Given the description of an element on the screen output the (x, y) to click on. 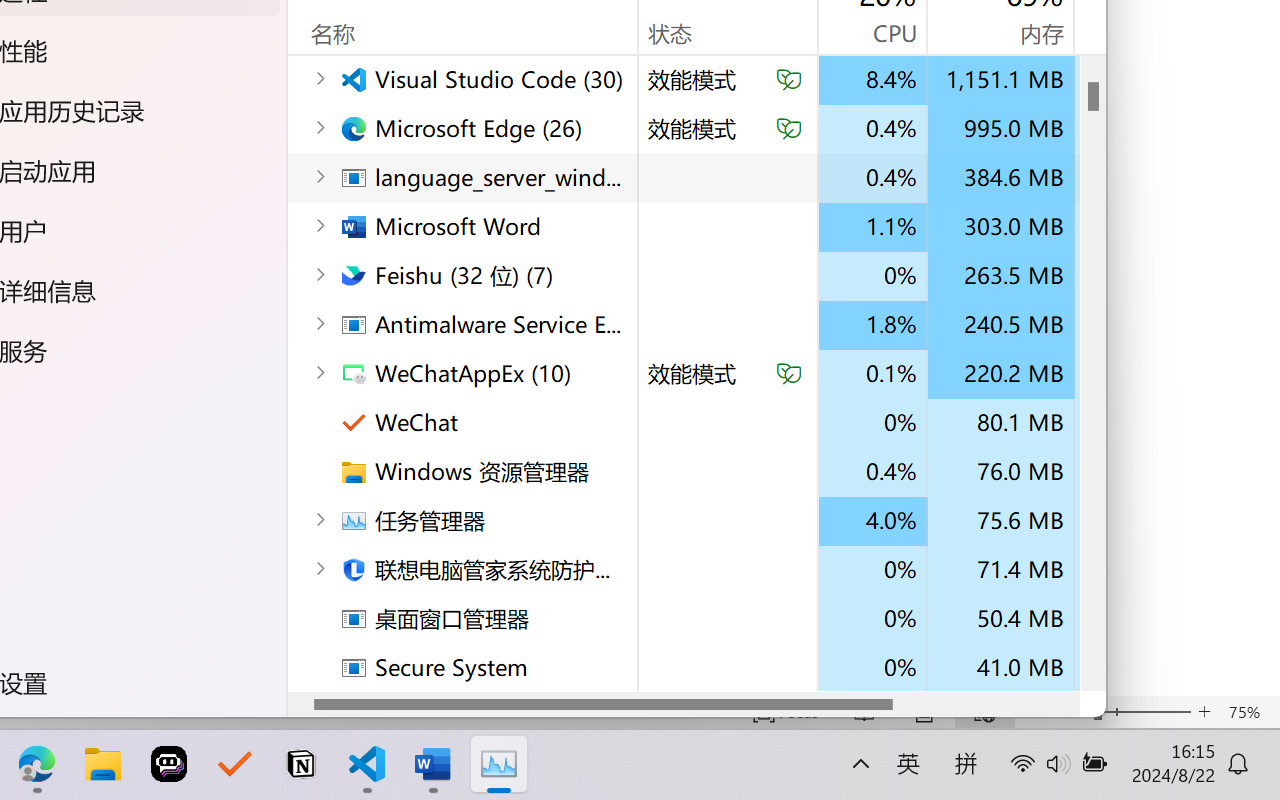
Poe (168, 764)
Notion (300, 764)
